Given the description of an element on the screen output the (x, y) to click on. 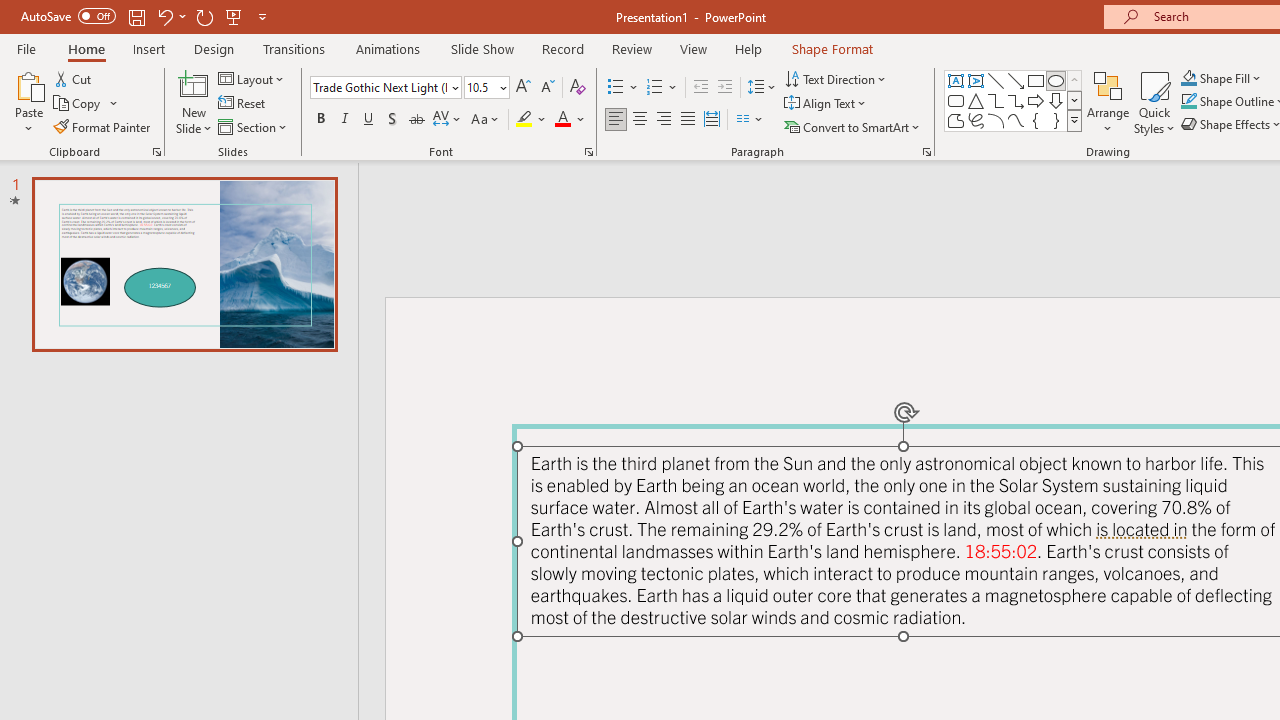
Row Down (1074, 100)
Increase Indent (725, 87)
Font Size (486, 87)
Quick Access Toolbar (145, 16)
Format Painter (103, 126)
Left Brace (1035, 120)
View (693, 48)
Customize Quick Access Toolbar (262, 15)
Convert to SmartArt (853, 126)
Open (502, 87)
Align Text (826, 103)
Connector: Elbow (995, 100)
Shape Outline Teal, Accent 1 (1188, 101)
Arrow: Right (1035, 100)
